Given the description of an element on the screen output the (x, y) to click on. 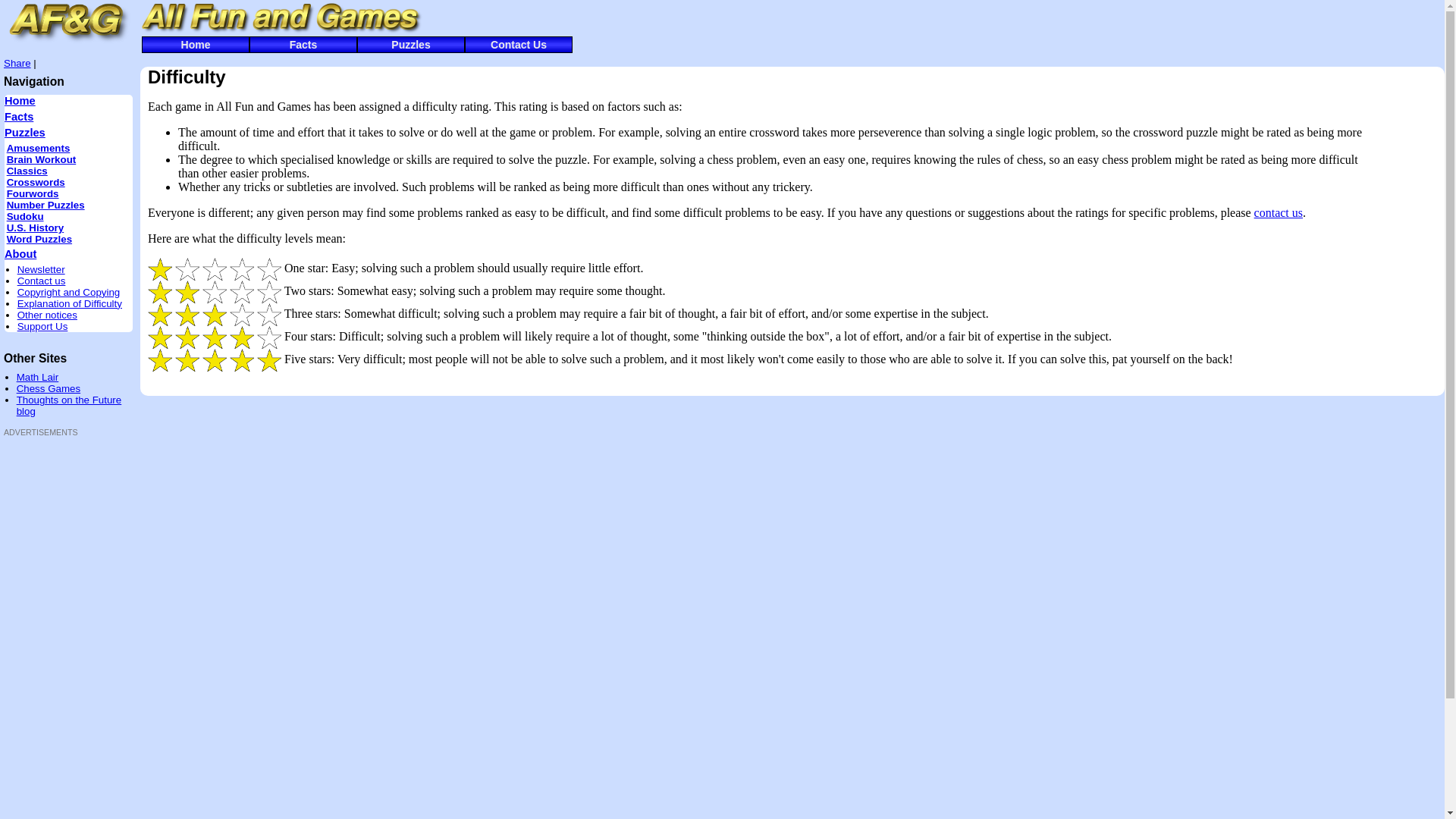
Newsletter Element type: text (41, 269)
Brain Workout Element type: text (41, 159)
Thoughts on the Future blog Element type: text (69, 405)
contact us Element type: text (1278, 212)
Word Puzzles Element type: text (39, 238)
Explanation of Difficulty Element type: text (69, 303)
Home Element type: text (19, 100)
Copyright and Copying Element type: text (68, 292)
Crosswords Element type: text (35, 182)
Other notices Element type: text (47, 314)
Support Us Element type: text (42, 326)
Amusements Element type: text (38, 147)
Contact us Element type: text (41, 280)
Classics Element type: text (26, 170)
Home Element type: text (195, 44)
Chess Games Element type: text (48, 388)
Sudoku Element type: text (24, 216)
Facts Element type: text (18, 116)
U.S. History Element type: text (35, 227)
Contact Us Element type: text (518, 44)
All Fun and Games Element type: hover (278, 18)
Math Lair Element type: text (37, 376)
Puzzles Element type: text (24, 132)
Share Element type: text (17, 63)
Number Puzzles Element type: text (45, 204)
About Element type: text (20, 253)
Fourwords Element type: text (32, 193)
Puzzles Element type: text (410, 44)
Facts Element type: text (303, 44)
